Given the description of an element on the screen output the (x, y) to click on. 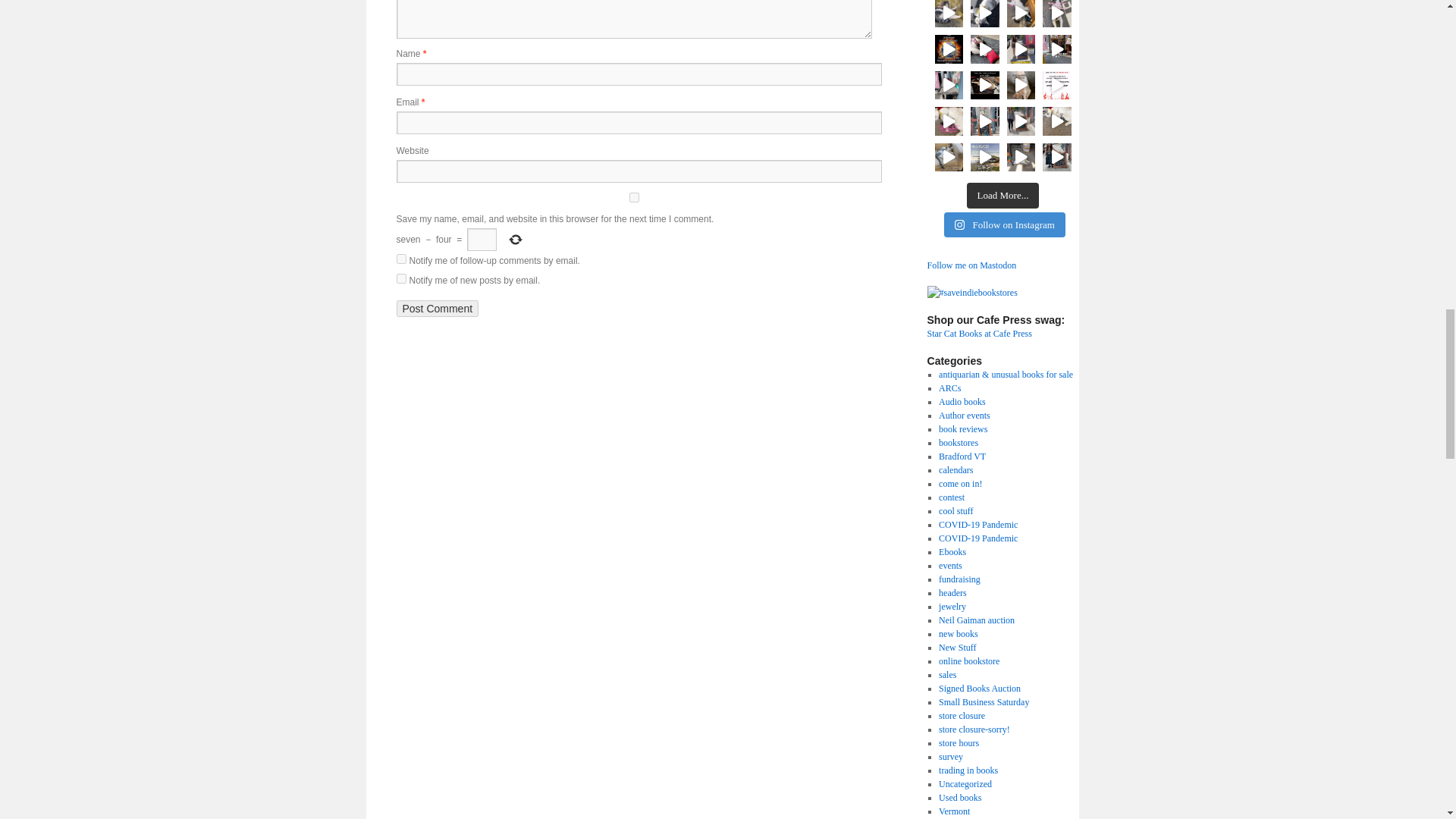
subscribe (401, 278)
Post Comment (437, 308)
yes (633, 197)
Post Comment (437, 308)
subscribe (401, 258)
